Given the description of an element on the screen output the (x, y) to click on. 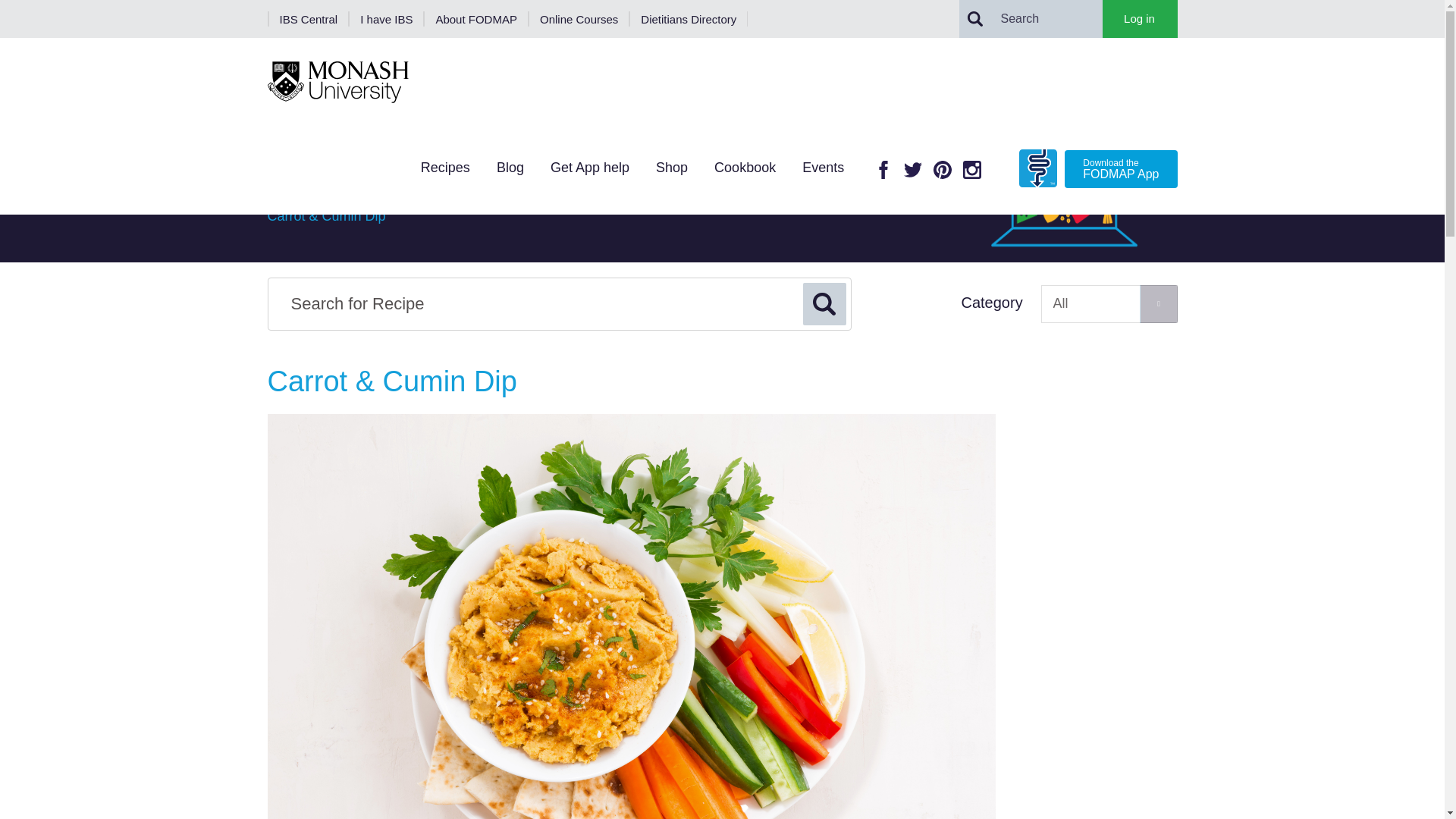
About FODMAP (475, 18)
Product and Recipe Certification Program (382, 58)
Dietitians Directory (688, 18)
Log in (1138, 18)
IBS Central (307, 18)
Cookbook (745, 170)
Live chat (1401, 782)
Online Courses (578, 18)
Search (1082, 164)
Search (824, 303)
Get App help (974, 19)
I have IBS (589, 170)
Search (386, 18)
